Given the description of an element on the screen output the (x, y) to click on. 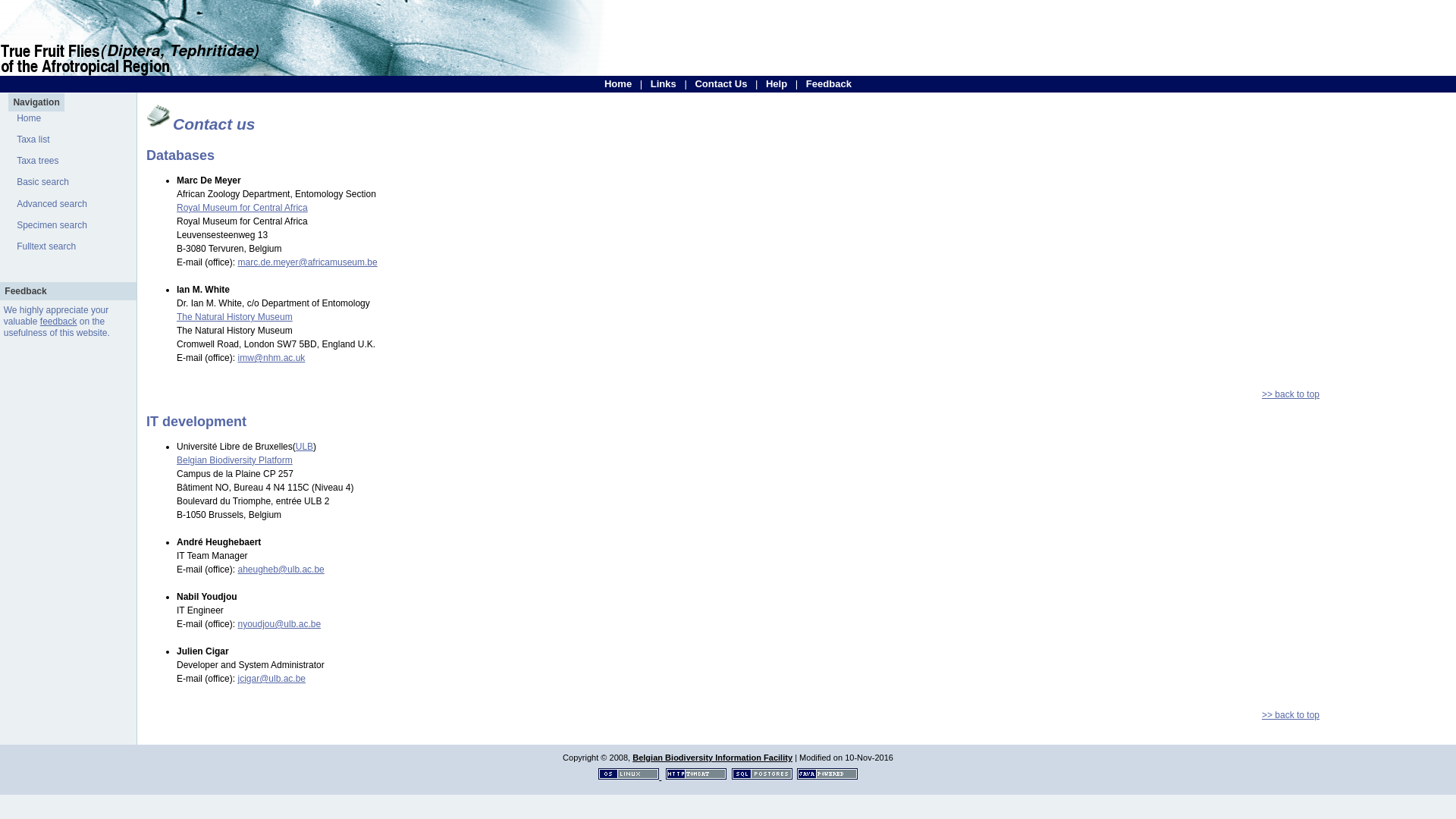
Basic search Element type: text (42, 181)
Home Element type: text (28, 117)
Taxa trees Element type: text (37, 160)
The Natural History Museum Element type: text (234, 316)
feedback Element type: text (58, 321)
Royal Museum for Central Africa Element type: text (241, 207)
Home Element type: text (618, 83)
jcigar@ulb.ac.be Element type: text (271, 678)
True Fruit flies of the Afrotropical Region Element type: hover (303, 72)
Contact Us Element type: text (720, 83)
>> back to top Element type: text (1290, 394)
Feedback Element type: text (828, 83)
nyoudjou@ulb.ac.be Element type: text (278, 623)
Belgian Biodiversity Information Facility Element type: text (712, 757)
Navigation Element type: text (36, 102)
Help Element type: text (776, 83)
ULB Element type: text (304, 446)
>> back to top Element type: text (1290, 714)
Specimen search Element type: text (51, 224)
Fulltext search Element type: text (45, 246)
Links Element type: text (663, 83)
imw@nhm.ac.uk Element type: text (270, 357)
Taxa list Element type: text (32, 139)
Belgian Biodiversity Platform Element type: text (234, 460)
Advanced search Element type: text (51, 203)
marc.de.meyer@africamuseum.be Element type: text (306, 262)
aheugheb@ulb.ac.be Element type: text (280, 569)
